Given the description of an element on the screen output the (x, y) to click on. 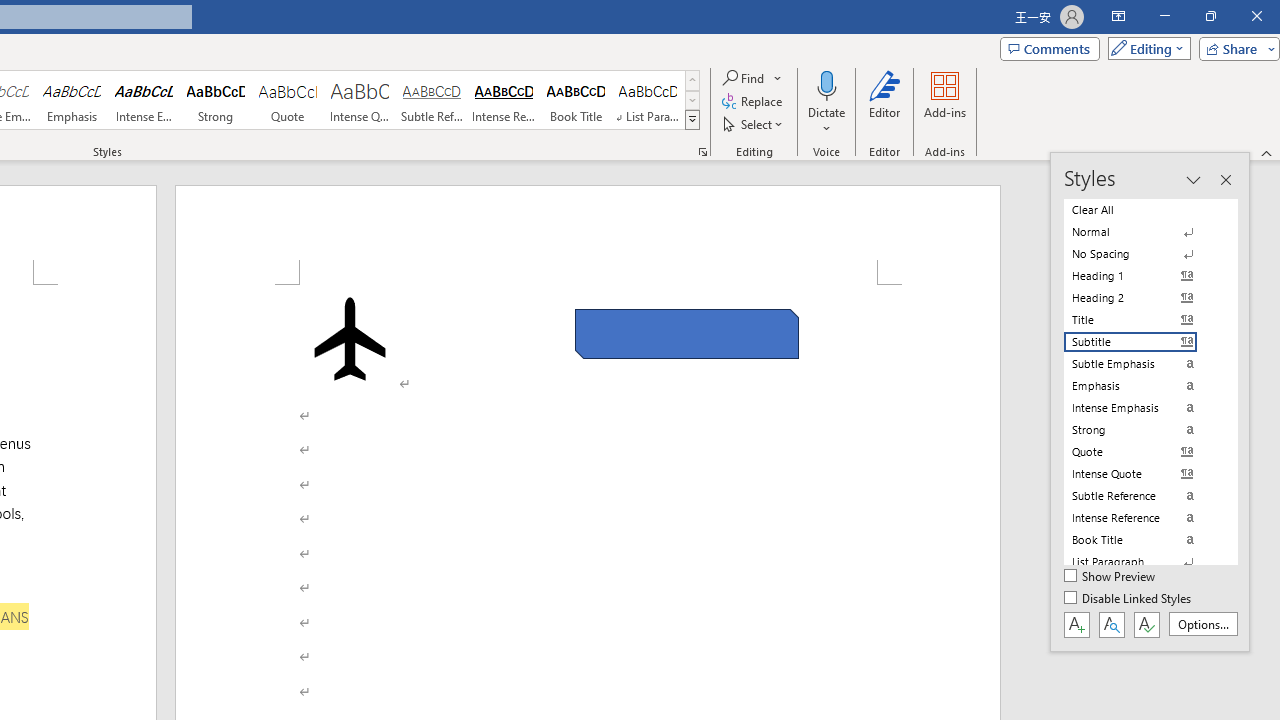
Select (754, 124)
Subtle Reference (431, 100)
Options... (1202, 623)
